Given the description of an element on the screen output the (x, y) to click on. 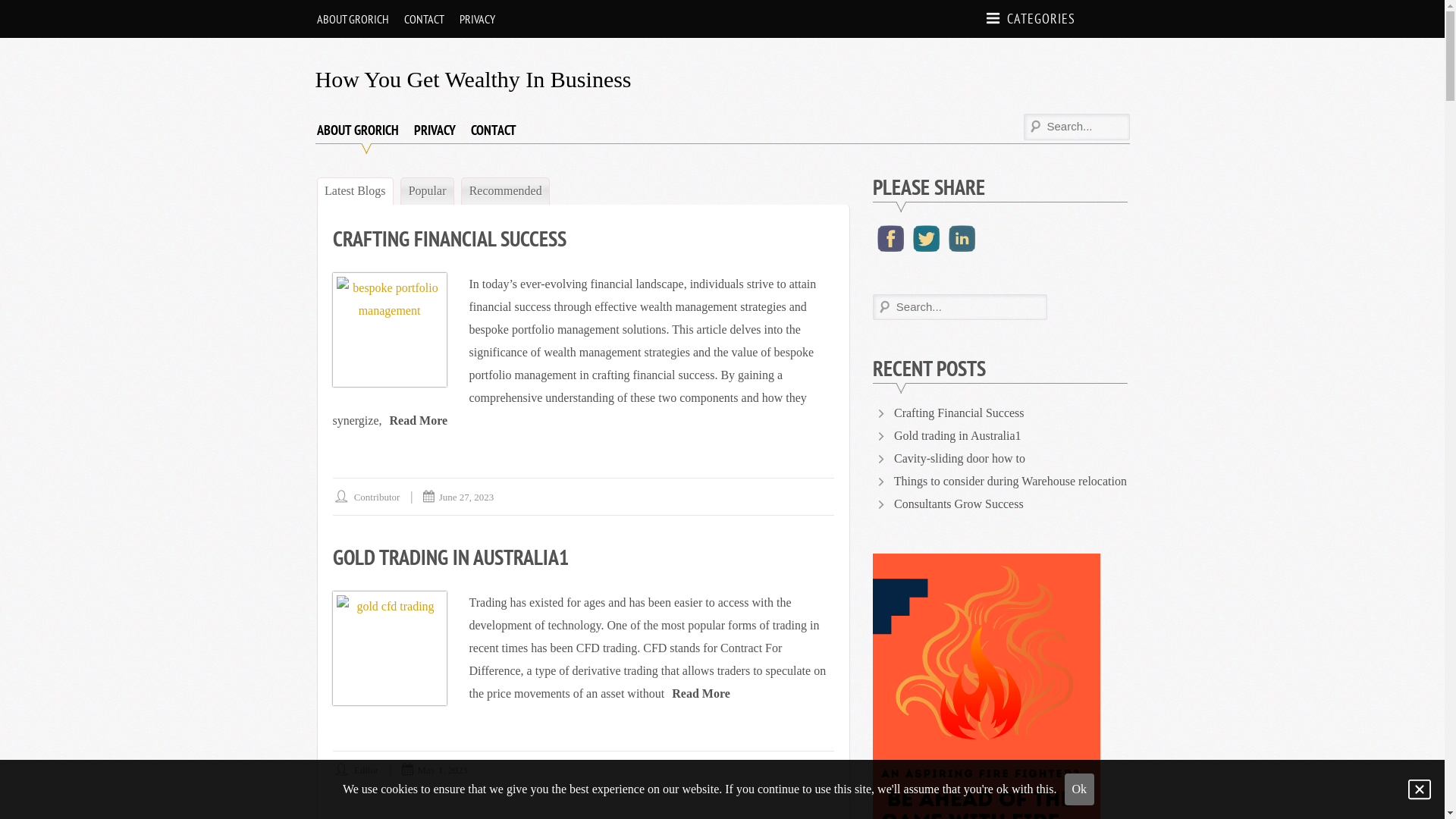
Gold trading in Australia1 Element type: text (957, 435)
Consultants Grow Success Element type: text (958, 503)
Cavity-sliding door how to Element type: text (959, 457)
Read More Element type: text (700, 693)
Facebook Element type: hover (890, 238)
Twitter Element type: hover (926, 238)
PRIVACY Element type: text (434, 129)
Ok Element type: text (1079, 789)
Crafting Financial Success Element type: text (959, 412)
CONTACT Element type: text (492, 129)
PRIVACY Element type: text (476, 18)
ABOUT GRORICH Element type: text (352, 18)
Things to consider during Warehouse relocation Element type: text (1010, 480)
CRAFTING FINANCIAL SUCCESS Element type: text (448, 238)
Editor Element type: text (366, 769)
ABOUT GRORICH Element type: text (357, 129)
Read More Element type: text (418, 420)
GOLD TRADING IN AUSTRALIA1 Element type: text (449, 556)
May 1, 2023 Element type: text (442, 769)
June 27, 2023 Element type: text (466, 496)
How You Get Wealthy In Business Element type: text (473, 78)
Search Element type: text (23, 12)
CONTACT Element type: text (423, 18)
Contributor Element type: text (377, 496)
LinkedIn Element type: hover (961, 238)
